Given the description of an element on the screen output the (x, y) to click on. 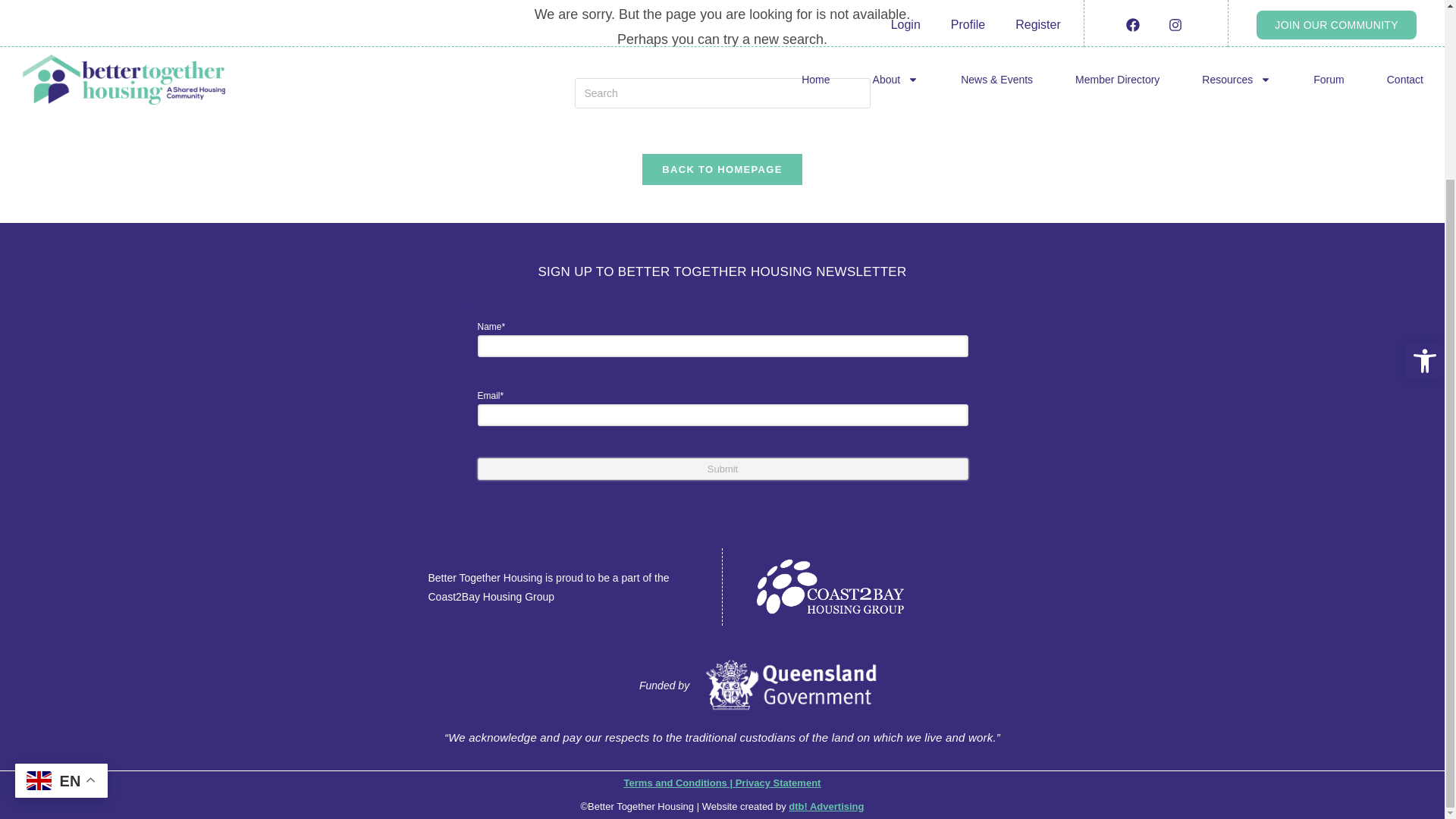
Accessibility Tools (1424, 141)
